Given the description of an element on the screen output the (x, y) to click on. 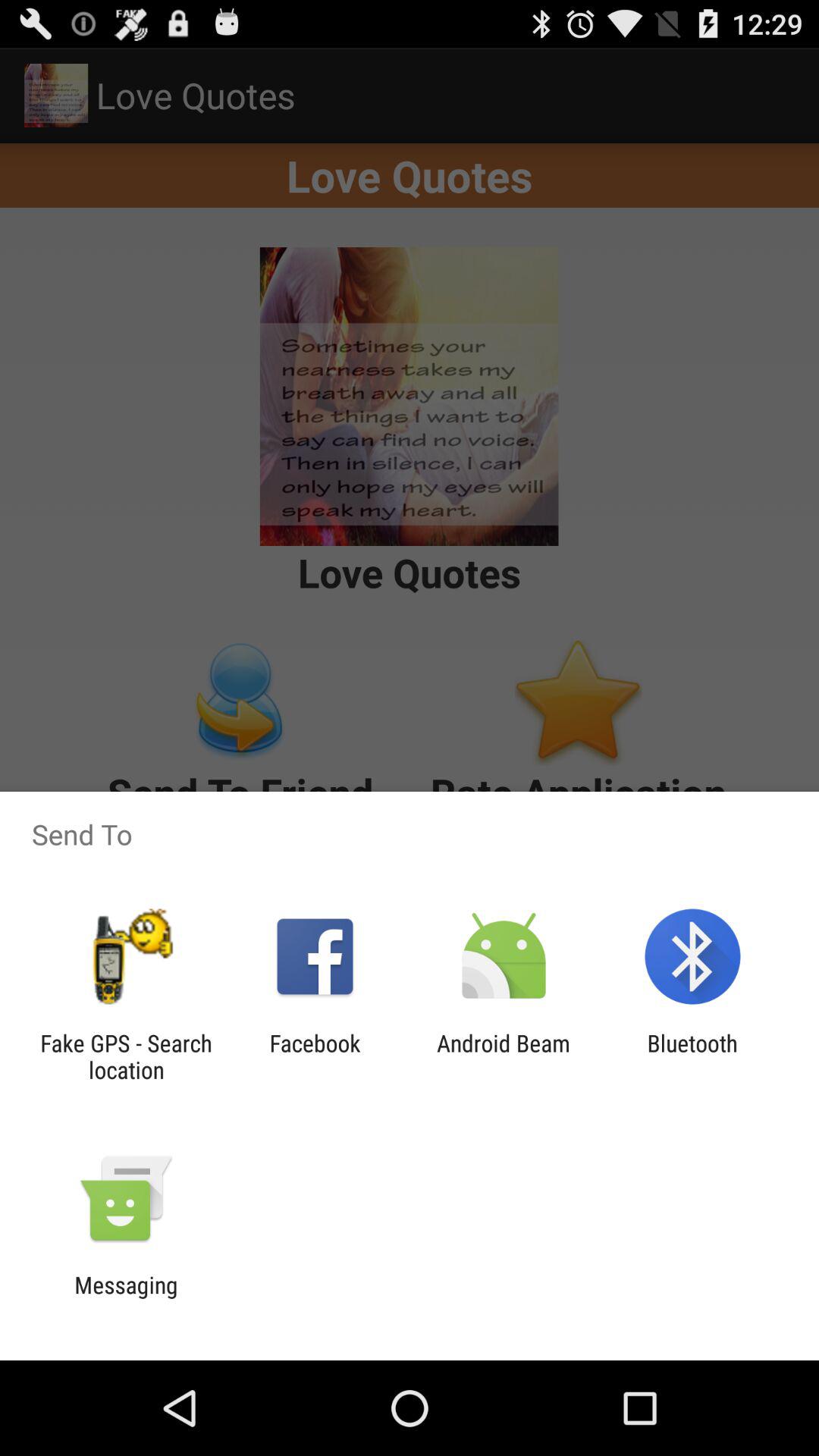
jump until android beam icon (503, 1056)
